Given the description of an element on the screen output the (x, y) to click on. 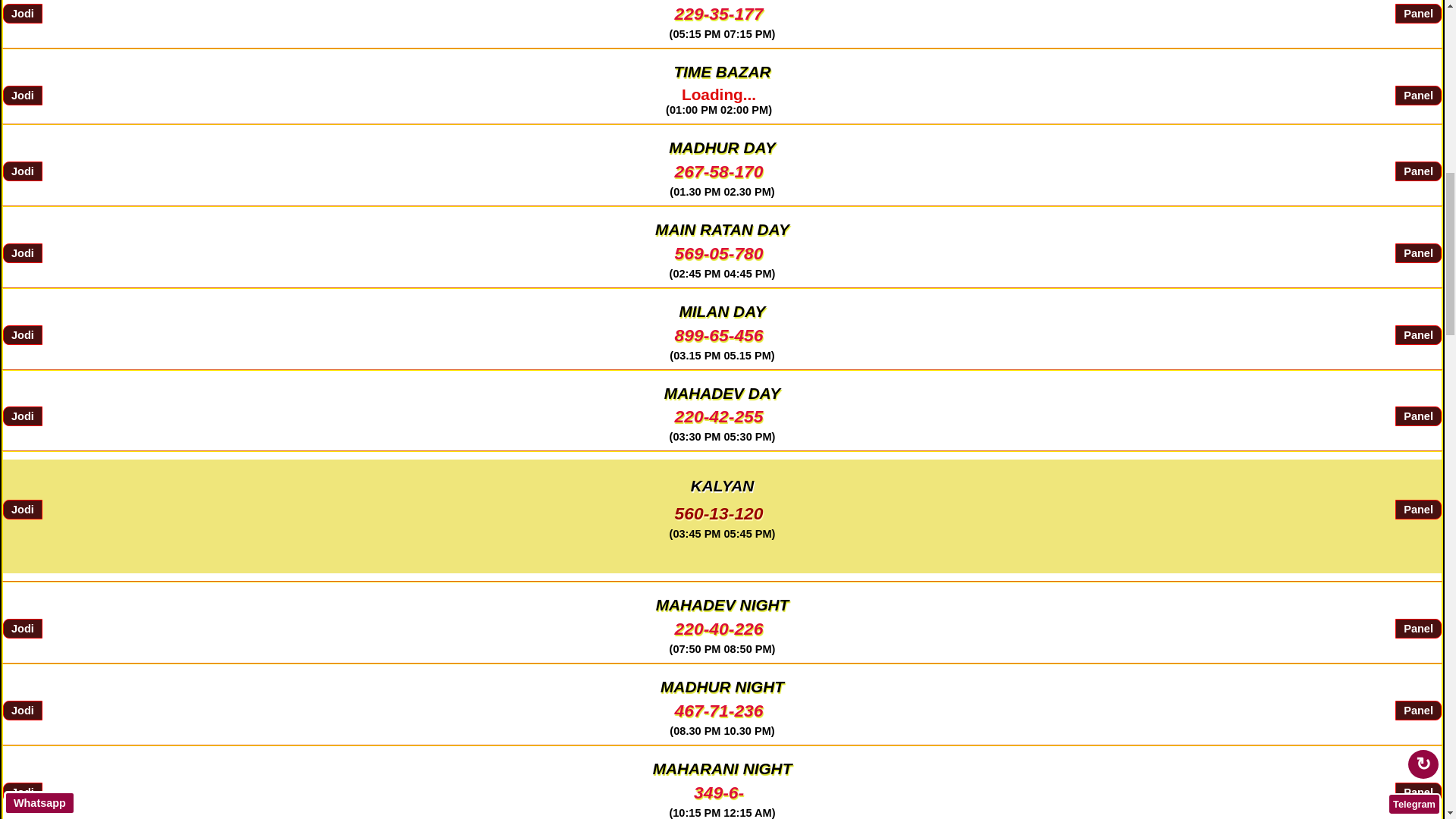
Jodi (22, 170)
Jodi (22, 252)
Jodi (22, 710)
Jodi (22, 509)
Jodi (22, 13)
Jodi (22, 334)
Jodi (22, 415)
Jodi (22, 95)
Jodi (22, 628)
Jodi (22, 792)
